Given the description of an element on the screen output the (x, y) to click on. 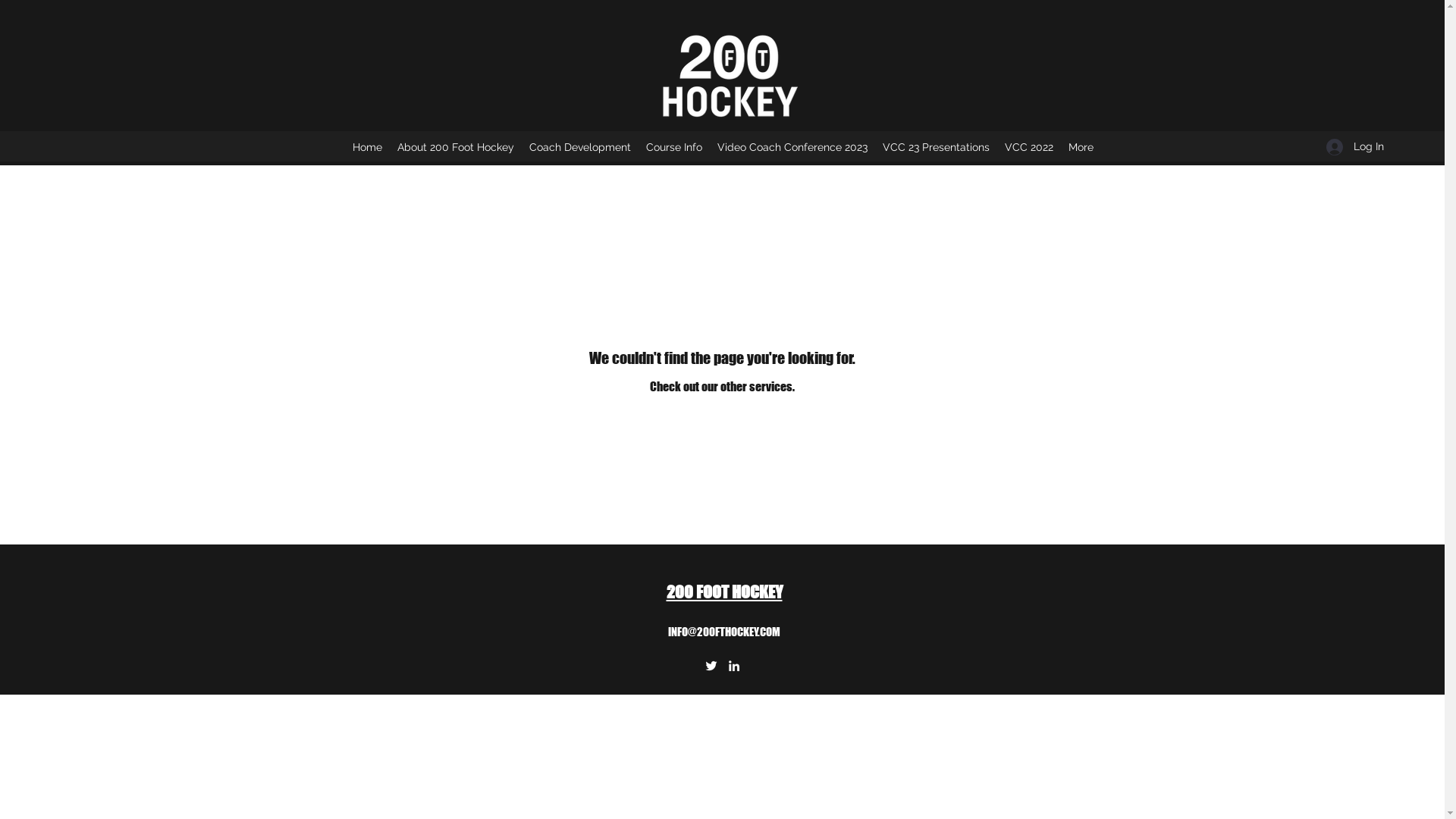
Coach Development Element type: text (579, 146)
Home Element type: text (366, 146)
Log In Element type: text (1349, 146)
Video Coach Conference 2023 Element type: text (792, 146)
VCC 23 Presentations Element type: text (936, 146)
Course Info Element type: text (673, 146)
VCC 2022 Element type: text (1028, 146)
INFO@200FTHOCKEY.COM Element type: text (724, 631)
About 200 Foot Hockey Element type: text (455, 146)
